Given the description of an element on the screen output the (x, y) to click on. 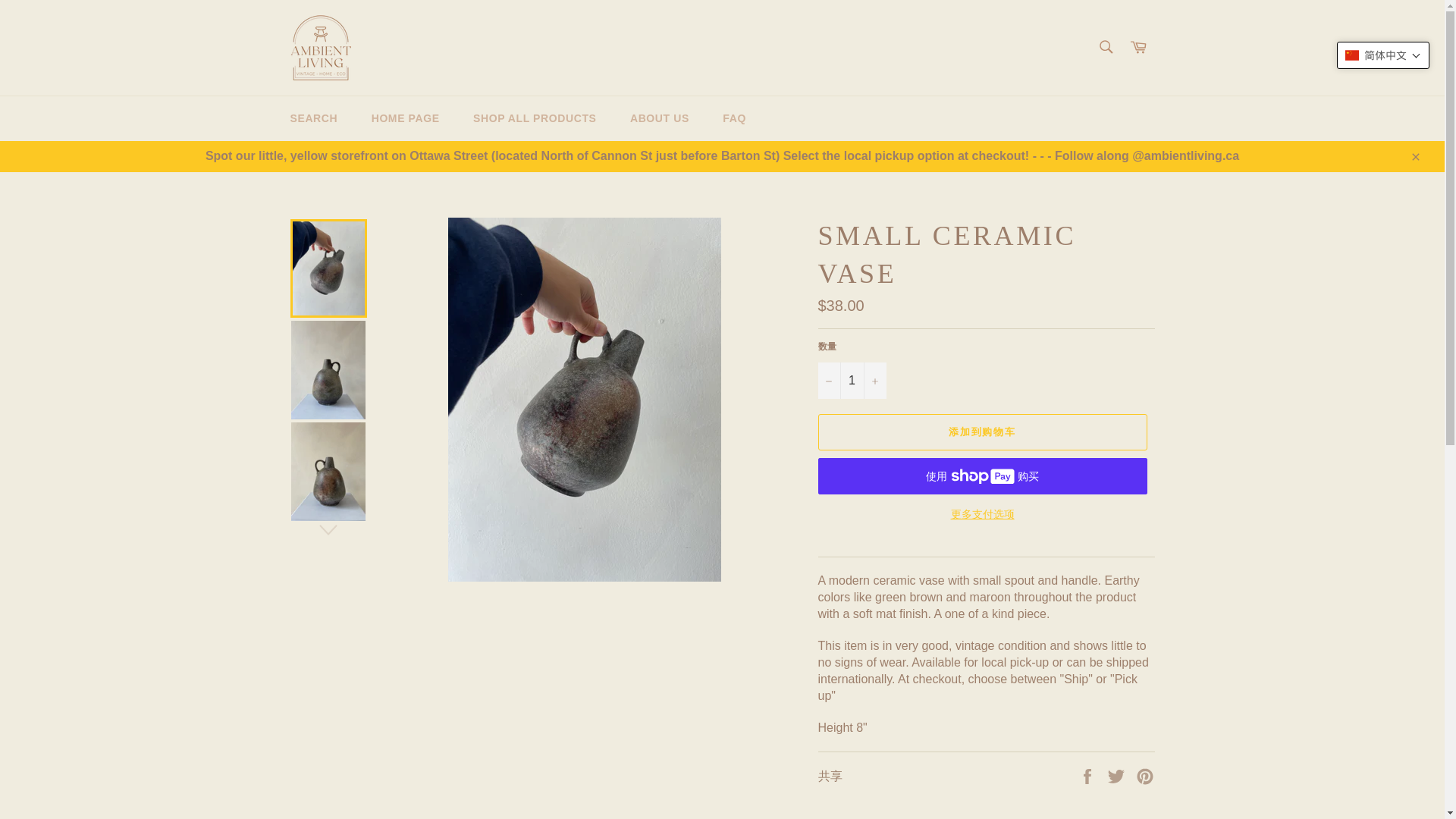
FAQ (734, 118)
1 (850, 380)
SHOP ALL PRODUCTS (534, 118)
SEARCH (313, 118)
ABOUT US (659, 118)
HOME PAGE (405, 118)
